Given the description of an element on the screen output the (x, y) to click on. 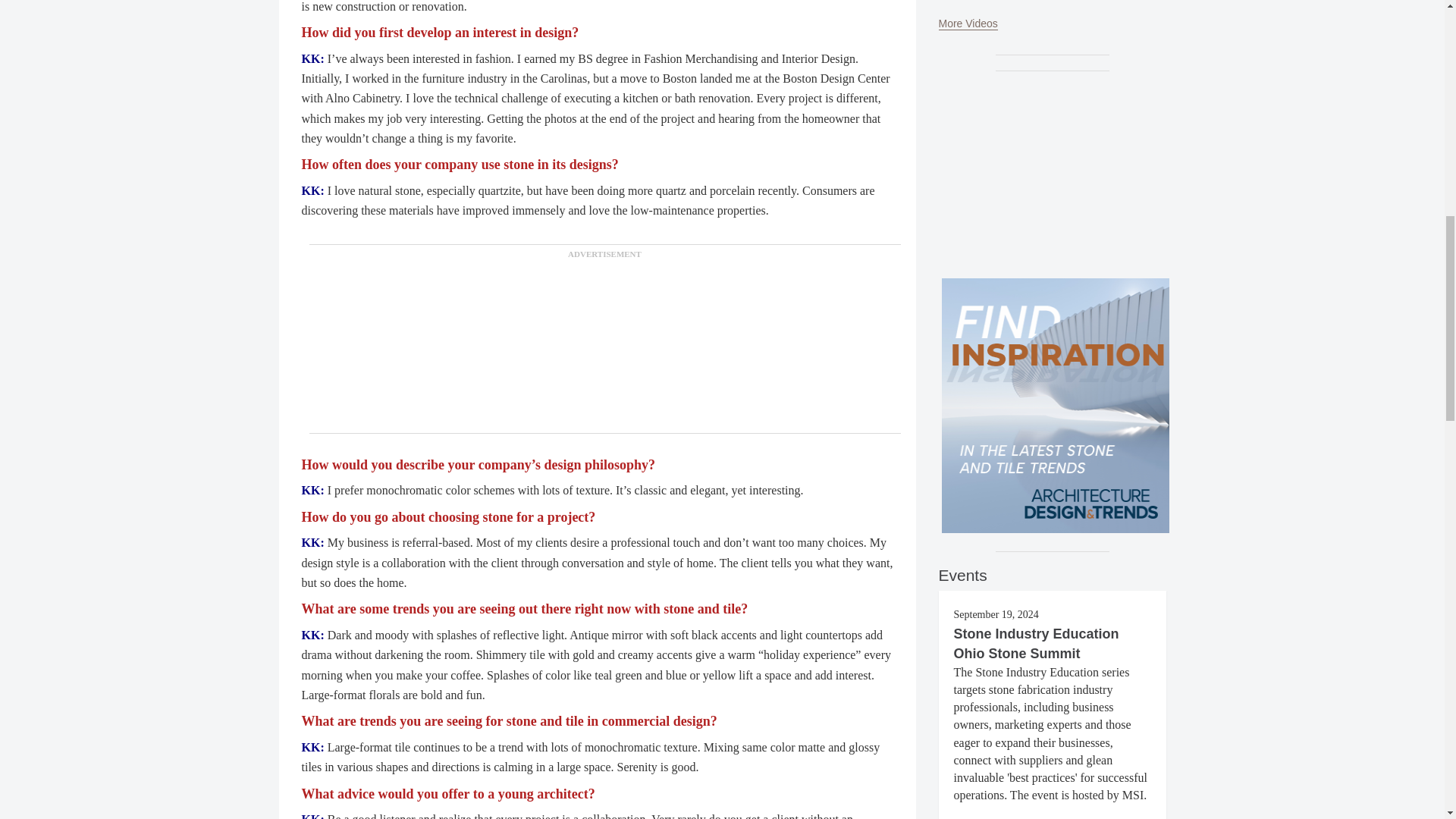
Stone Industry Education Ohio Stone Summit (1036, 643)
